Given the description of an element on the screen output the (x, y) to click on. 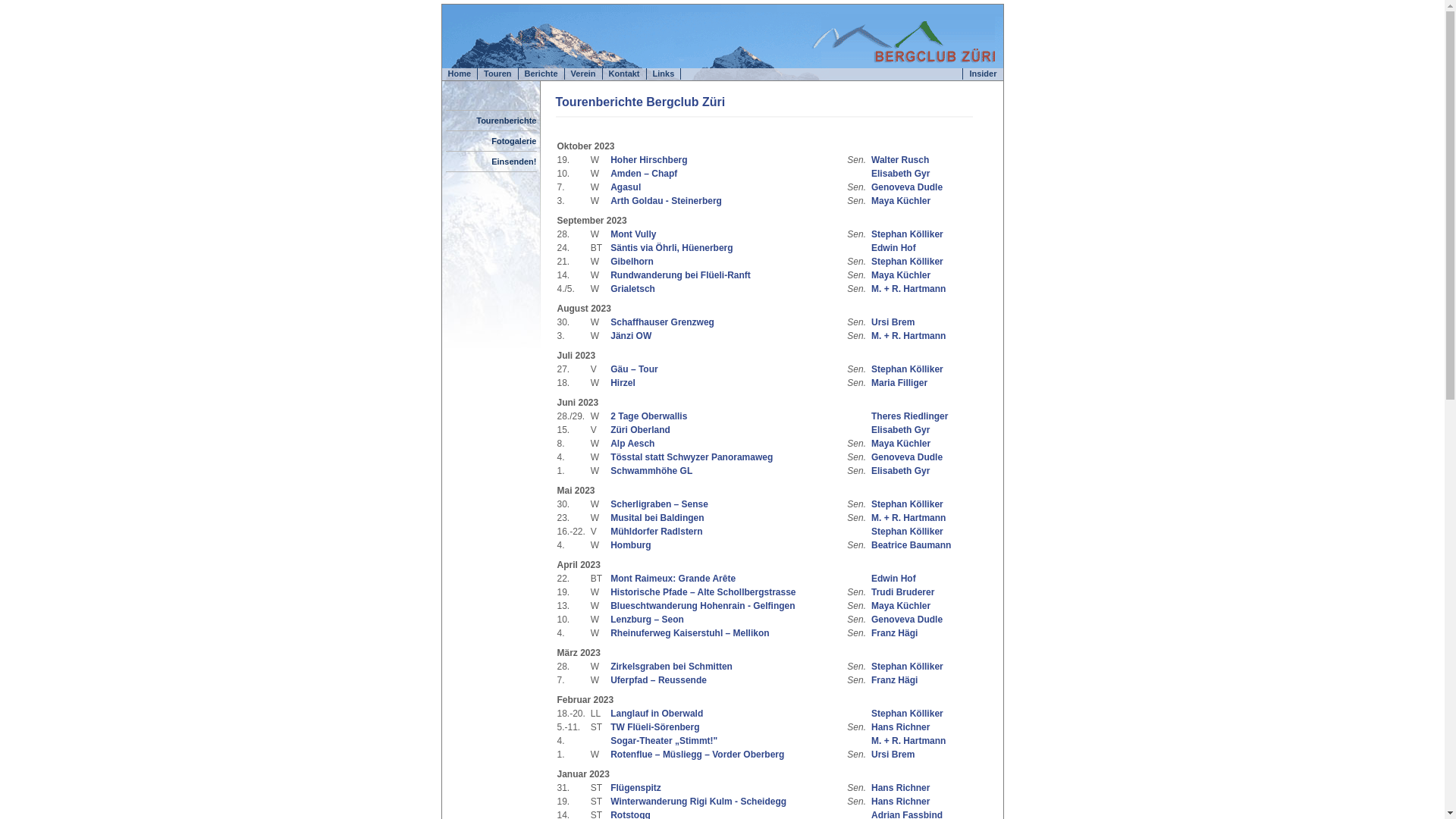
Arth Goldau - Steinerberg Element type: text (665, 200)
Winterwanderung Rigi Kulm - Scheidegg Element type: text (698, 801)
Elisabeth Gyr Element type: text (900, 173)
Gibelhorn Element type: text (631, 261)
Fotogalerie Element type: text (513, 140)
Einsenden! Element type: text (513, 161)
Verein Element type: text (583, 73)
M. + R. Hartmann Element type: text (908, 517)
Theres Riedlinger Element type: text (909, 416)
Mont Vully Element type: text (632, 234)
M. + R. Hartmann Element type: text (908, 288)
Hans Richner Element type: text (900, 787)
M. + R. Hartmann Element type: text (908, 740)
Elisabeth Gyr Element type: text (900, 470)
Zirkelsgraben bei Schmitten Element type: text (671, 666)
Hoher Hirschberg Element type: text (648, 159)
Aktive und Senioren Element type: hover (858, 416)
Home Element type: text (459, 73)
Insider Element type: text (982, 73)
Ursi Brem Element type: text (892, 754)
Ursi Brem Element type: text (892, 321)
Alp Aesch Element type: text (632, 443)
Walter Rusch Element type: text (899, 159)
Aktive und Senioren Element type: hover (858, 531)
Hans Richner Element type: text (900, 726)
Beatrice Baumann Element type: text (910, 544)
Trudi Bruderer Element type: text (902, 591)
Edwin Hof Element type: text (893, 247)
M. + R. Hartmann Element type: text (908, 335)
Aktive und Senioren Element type: hover (858, 173)
Aktive und Senioren Element type: hover (858, 713)
Langlauf in Oberwald Element type: text (656, 713)
Genoveva Dudle Element type: text (906, 456)
Homburg Element type: text (630, 544)
Kontakt Element type: text (624, 73)
Touren Element type: text (497, 73)
Musital bei Baldingen Element type: text (656, 517)
Maria Filliger Element type: text (899, 382)
Genoveva Dudle Element type: text (906, 619)
Elisabeth Gyr Element type: text (900, 429)
Berichte Element type: text (541, 73)
Genoveva Dudle Element type: text (906, 187)
Tourenberichte Element type: text (506, 120)
Blueschtwanderung Hohenrain - Gelfingen Element type: text (702, 605)
Hirzel Element type: text (622, 382)
2 Tage Oberwallis Element type: text (648, 416)
Edwin Hof Element type: text (893, 578)
Schaffhauser Grenzweg Element type: text (662, 321)
Hans Richner Element type: text (900, 801)
Agasul Element type: text (625, 187)
Links Element type: text (663, 73)
Aktive und Senioren Element type: hover (858, 429)
Grialetsch Element type: text (632, 288)
